Given the description of an element on the screen output the (x, y) to click on. 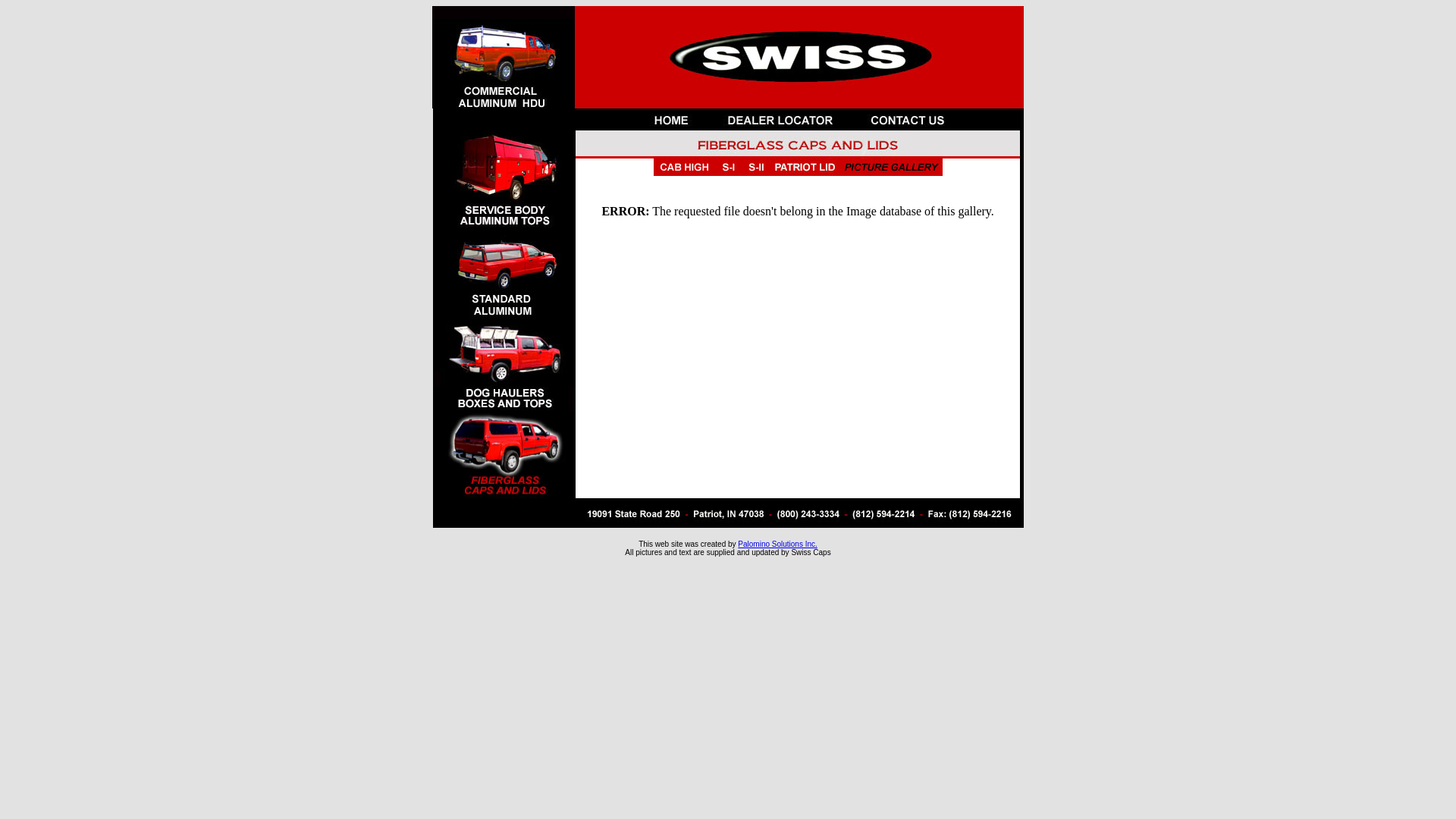
Palomino Solutions Inc. Element type: text (777, 543)
